Given the description of an element on the screen output the (x, y) to click on. 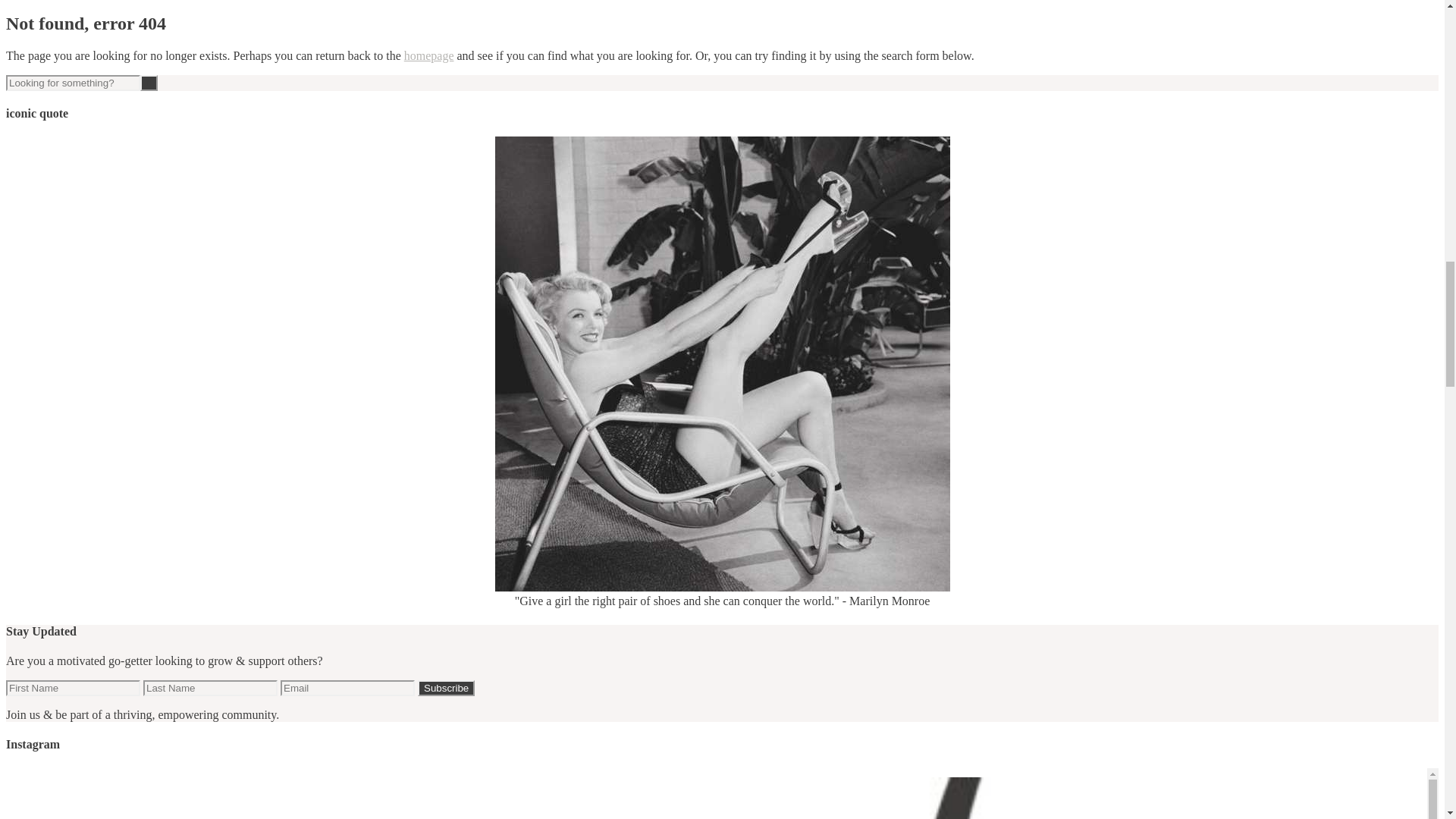
Subscribe (445, 688)
